Given the description of an element on the screen output the (x, y) to click on. 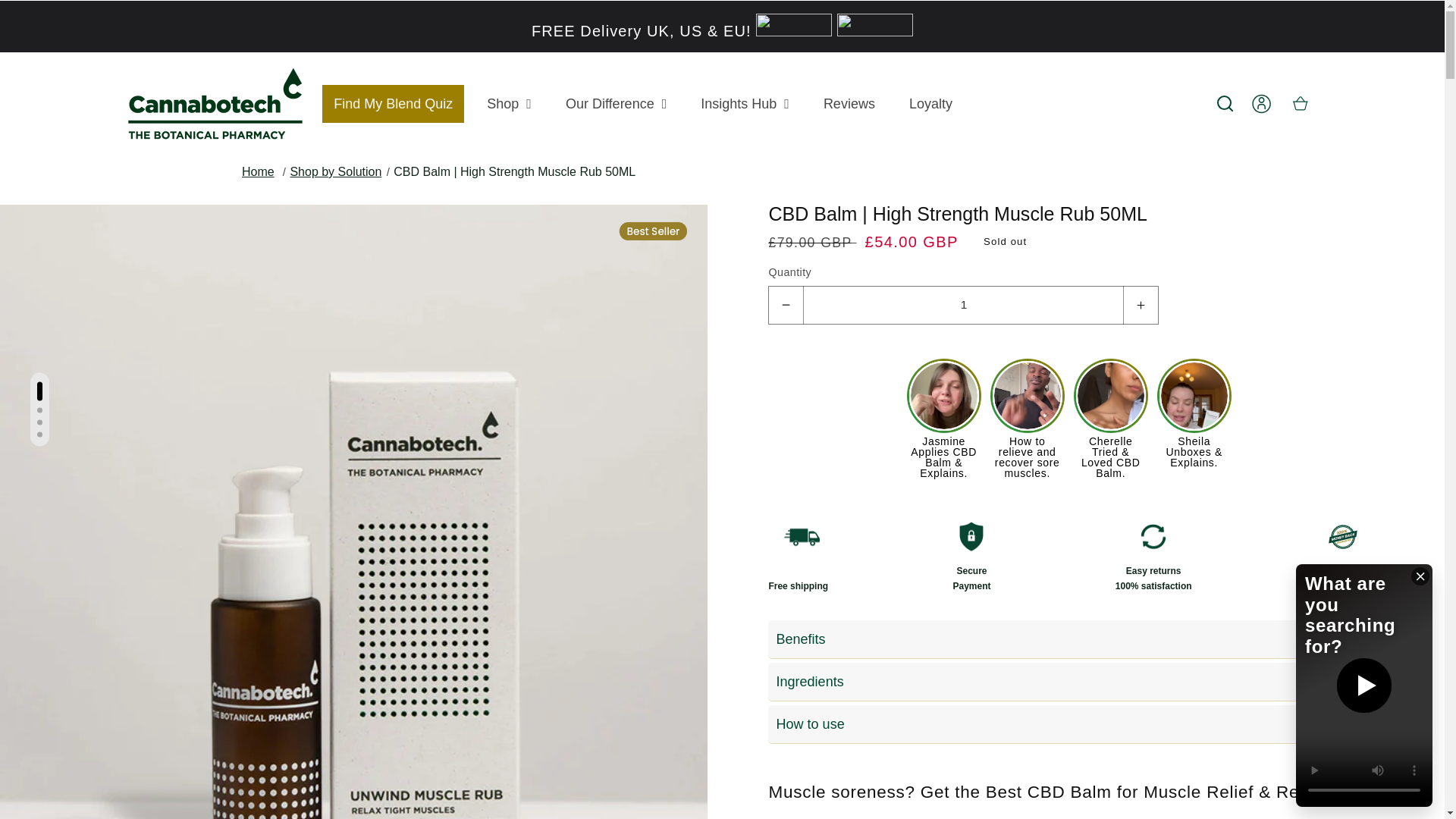
1 (963, 305)
Skip to content (50, 19)
